Given the description of an element on the screen output the (x, y) to click on. 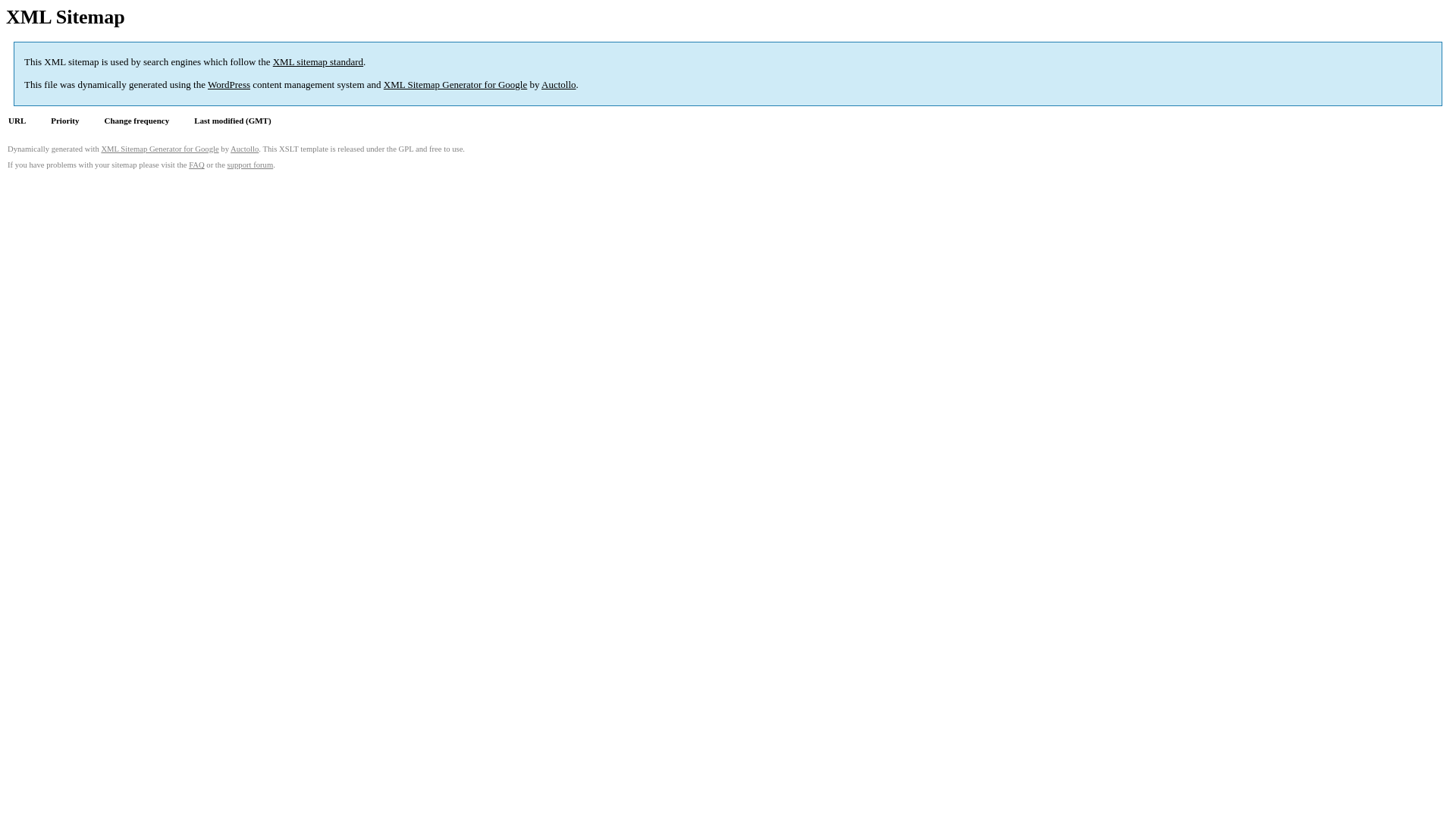
support forum Element type: text (250, 164)
FAQ Element type: text (196, 164)
XML Sitemap Generator for Google Element type: text (455, 84)
Auctollo Element type: text (244, 148)
XML sitemap standard Element type: text (318, 61)
WordPress Element type: text (228, 84)
Auctollo Element type: text (558, 84)
XML Sitemap Generator for Google Element type: text (159, 148)
